Given the description of an element on the screen output the (x, y) to click on. 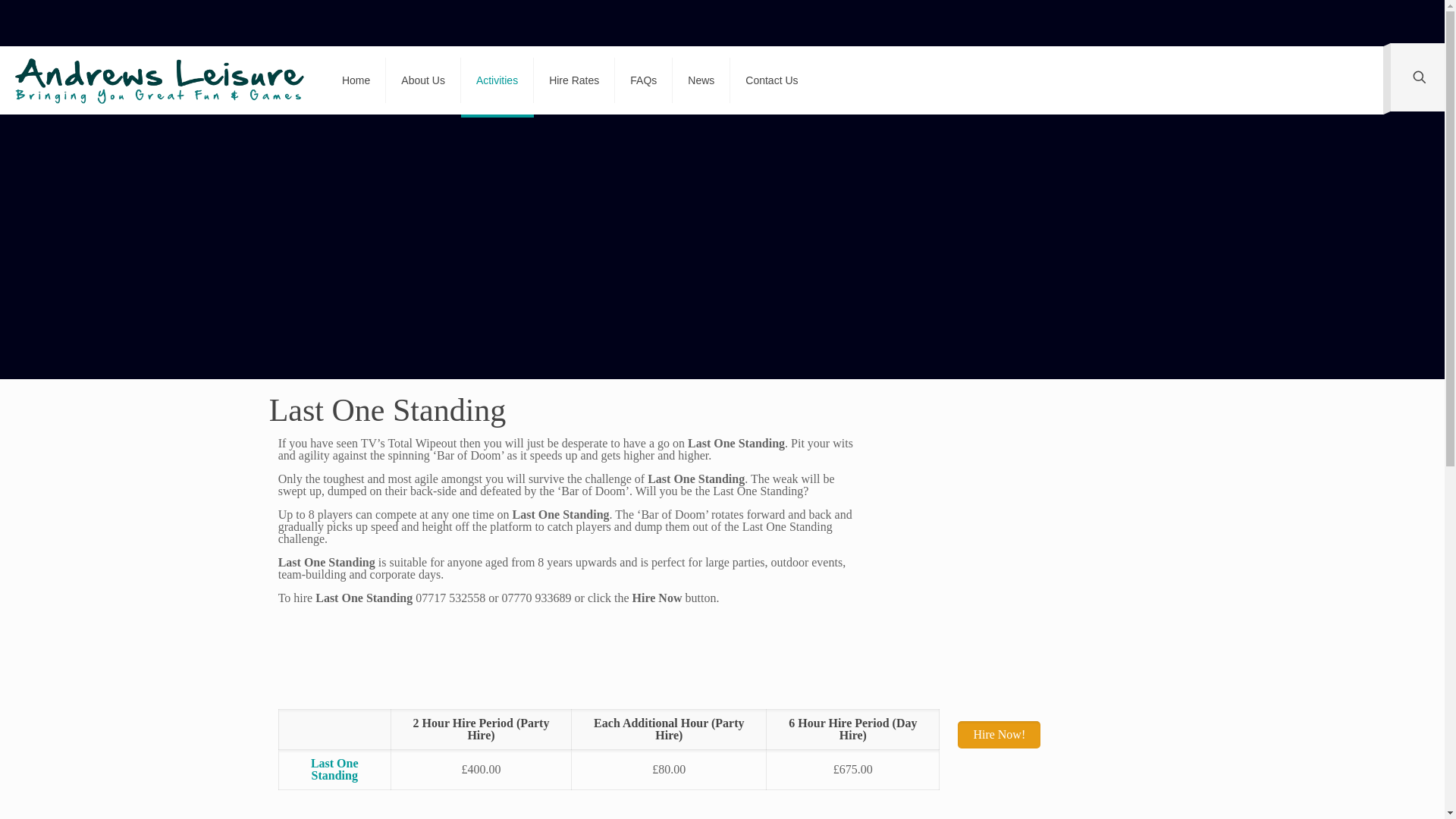
Last One Standing (334, 769)
Activities (497, 79)
Hire Now! (999, 734)
Home (355, 79)
About Us (423, 79)
News (701, 79)
Hire Rates (574, 79)
Contact Us (771, 79)
FAQs (643, 79)
